Given the description of an element on the screen output the (x, y) to click on. 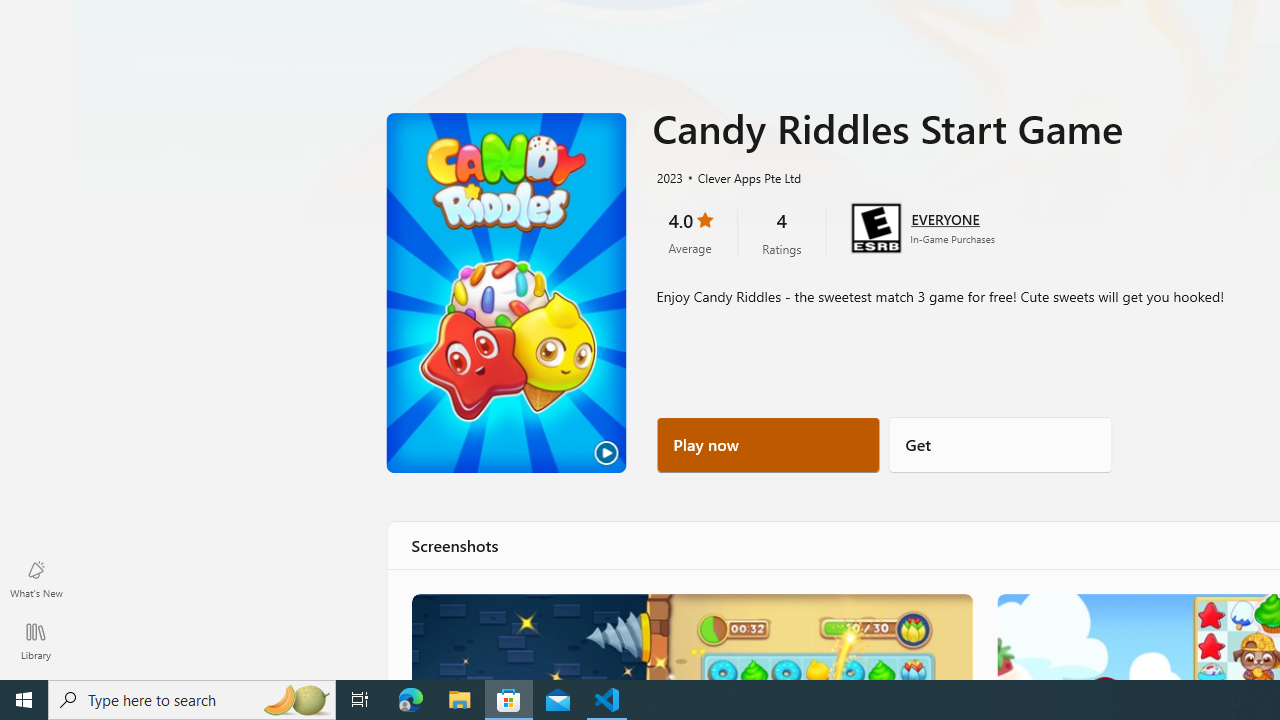
4.0 stars. Click to skip to ratings and reviews (689, 232)
2023 (667, 177)
Play Trailer (505, 293)
Play now (767, 444)
Age rating: EVERYONE. Click for more information. (945, 218)
Get (1000, 444)
Clever Apps Pte Ltd (741, 177)
Candy Riddles (690, 636)
